Given the description of an element on the screen output the (x, y) to click on. 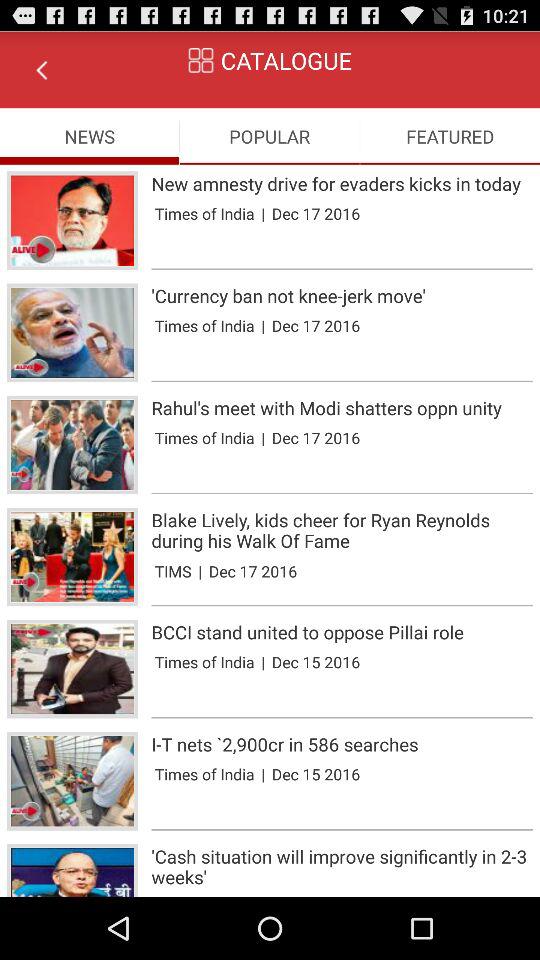
select the icon next to dec 15 2016 (263, 773)
